Given the description of an element on the screen output the (x, y) to click on. 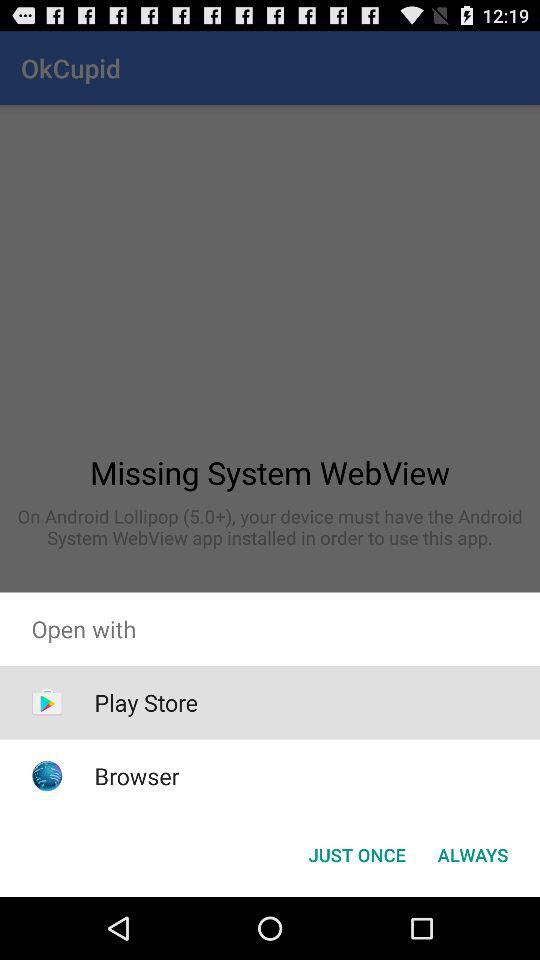
open the always (472, 854)
